Given the description of an element on the screen output the (x, y) to click on. 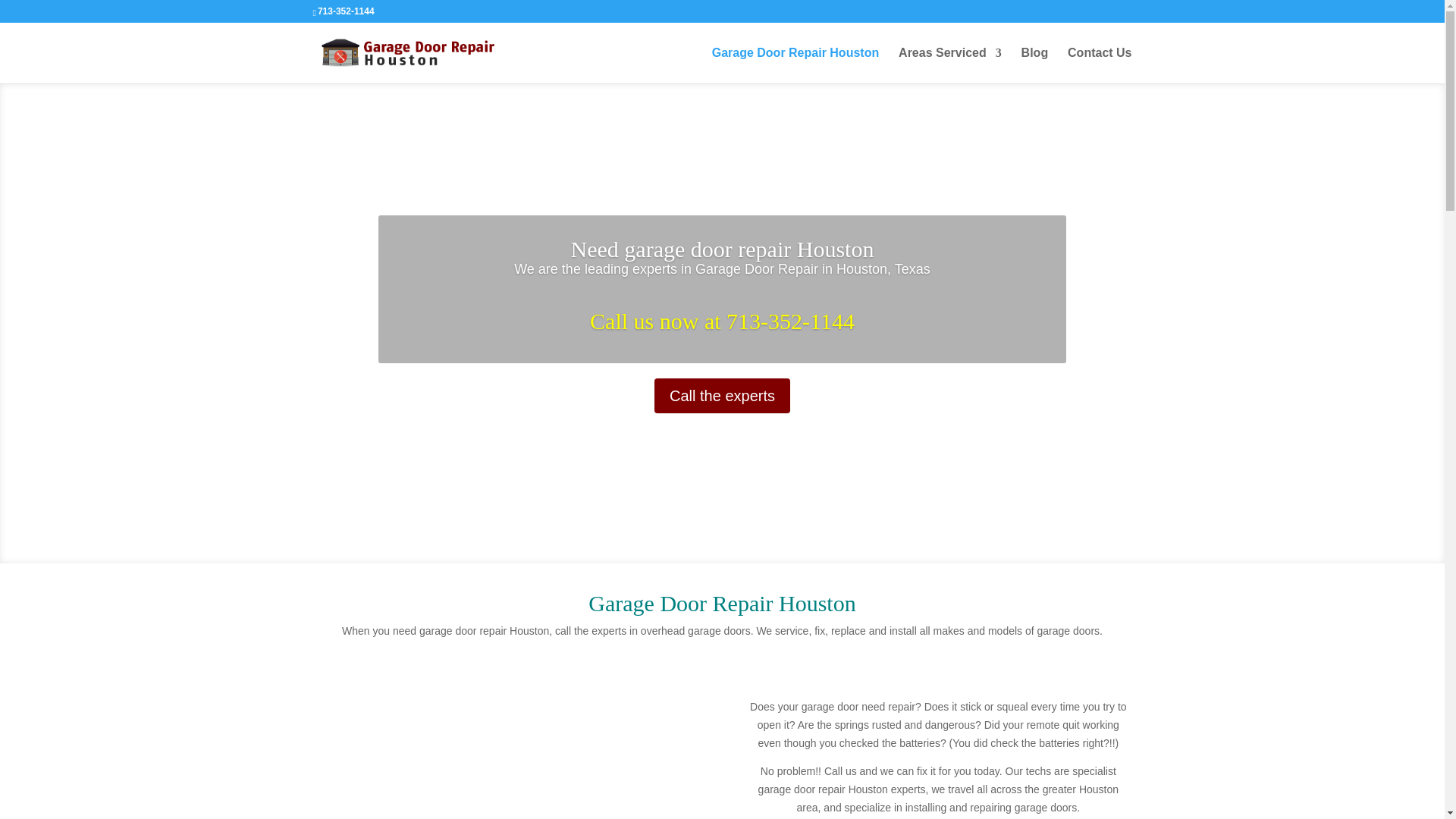
Areas Serviced (949, 65)
1 (708, 532)
Contact Us (1099, 65)
3 (735, 532)
Garage Door Repair Houston (795, 65)
2 (722, 532)
